Given the description of an element on the screen output the (x, y) to click on. 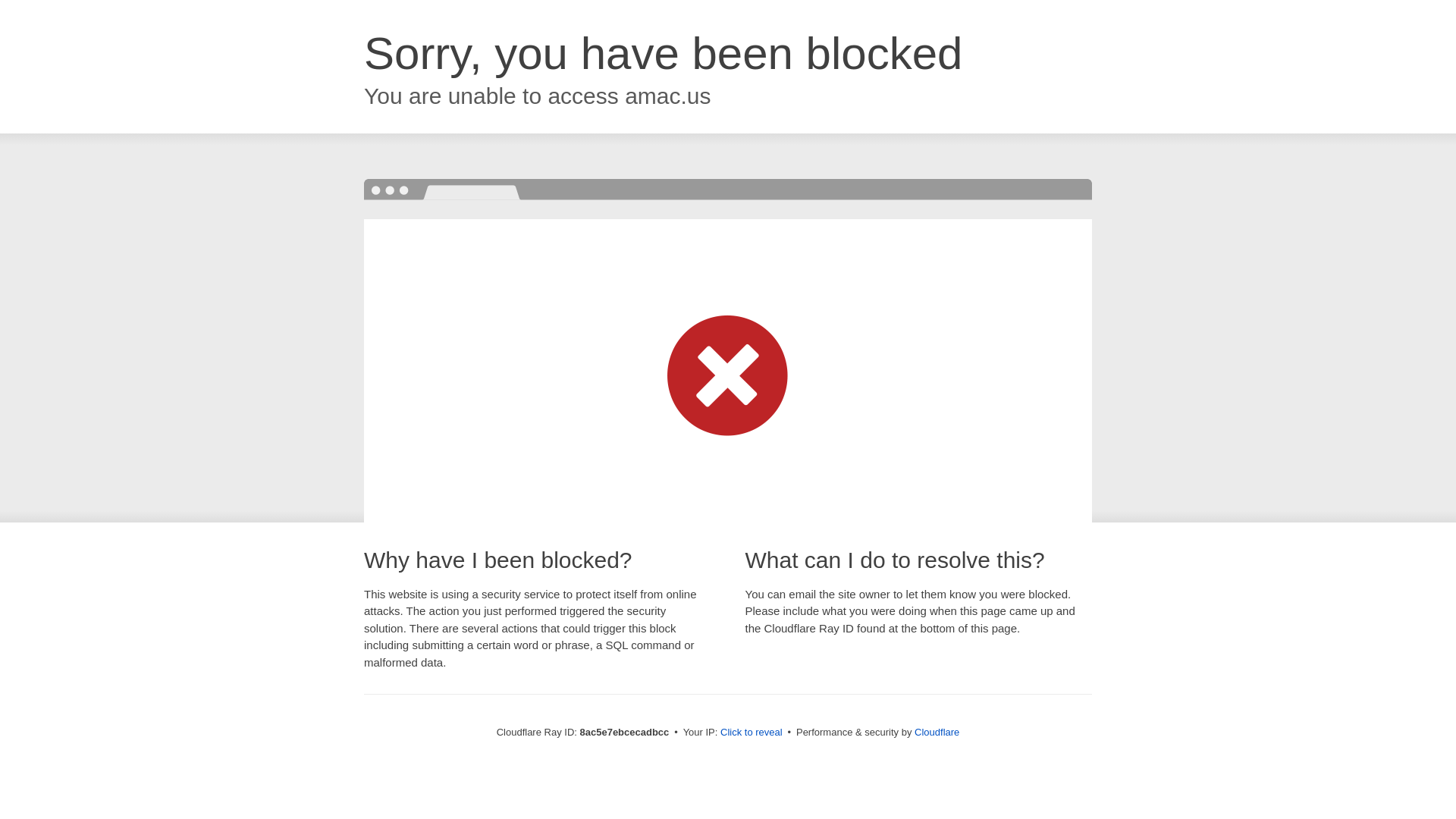
Cloudflare (936, 731)
Click to reveal (751, 732)
